Given the description of an element on the screen output the (x, y) to click on. 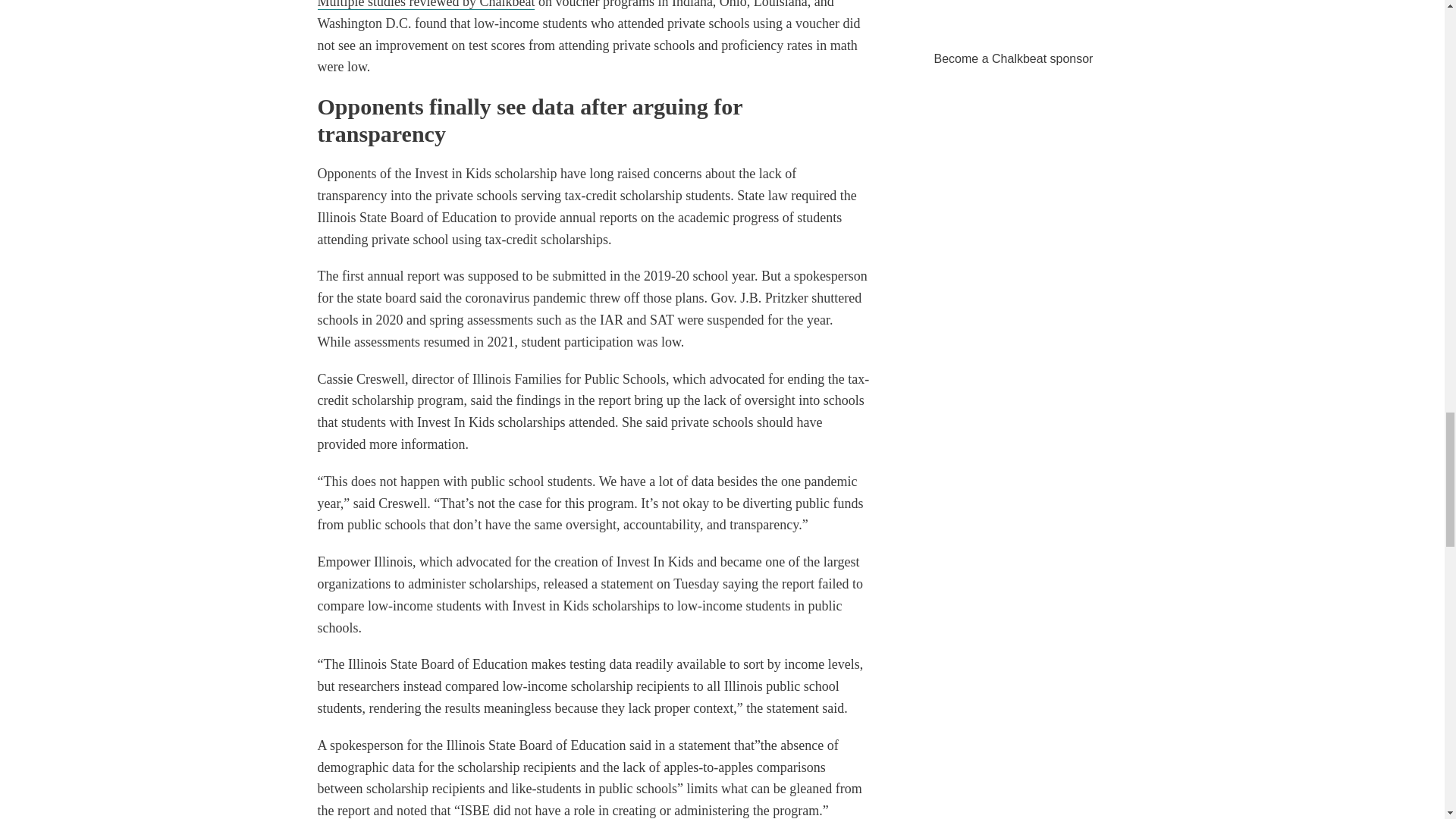
Multiple studies reviewed by Chalkbeat (425, 4)
